Given the description of an element on the screen output the (x, y) to click on. 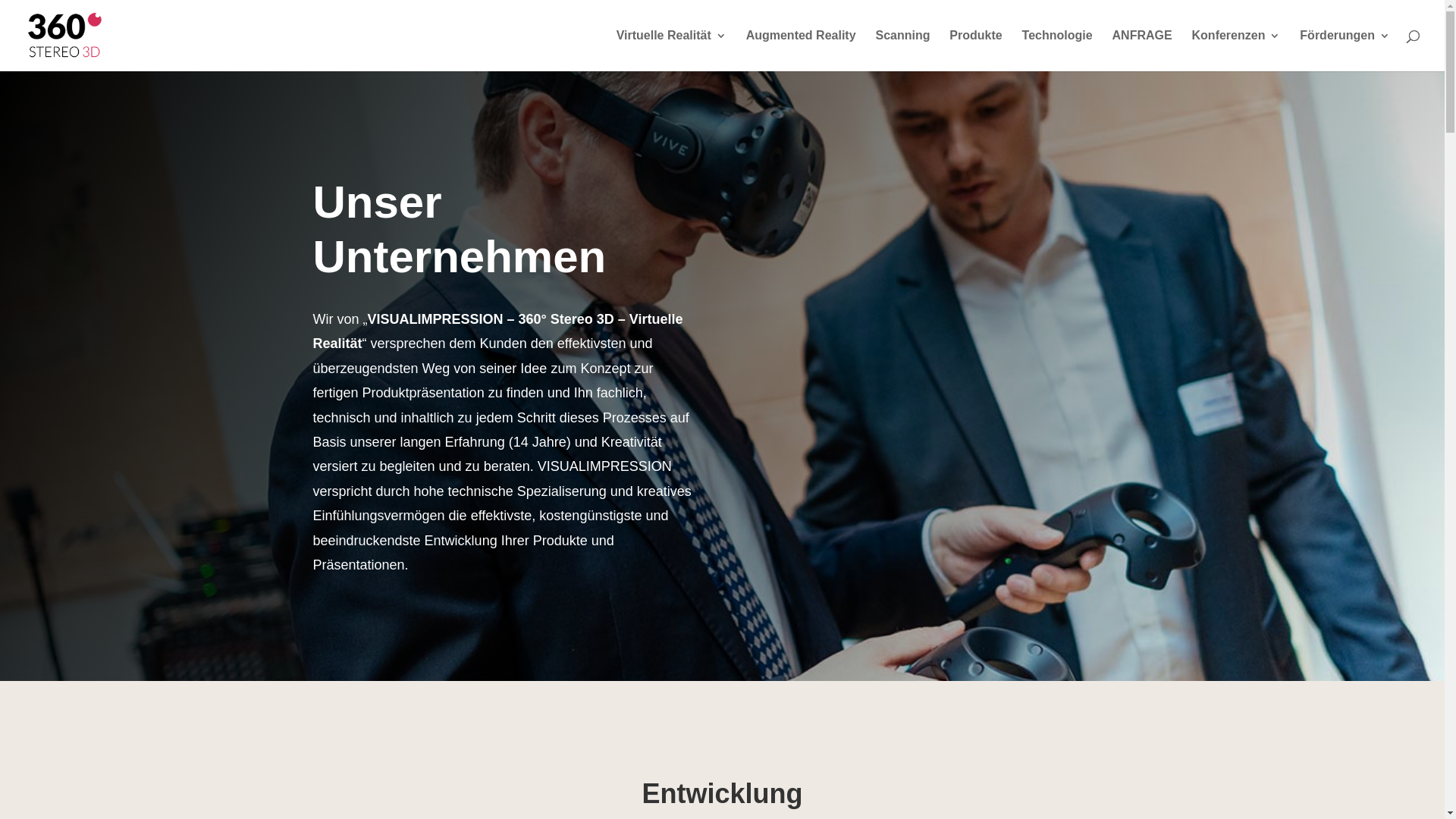
ANFRAGE Element type: text (1142, 50)
Augmented Reality Element type: text (801, 50)
Konferenzen Element type: text (1236, 50)
Scanning Element type: text (902, 50)
Produkte Element type: text (975, 50)
Technologie Element type: text (1057, 50)
